Given the description of an element on the screen output the (x, y) to click on. 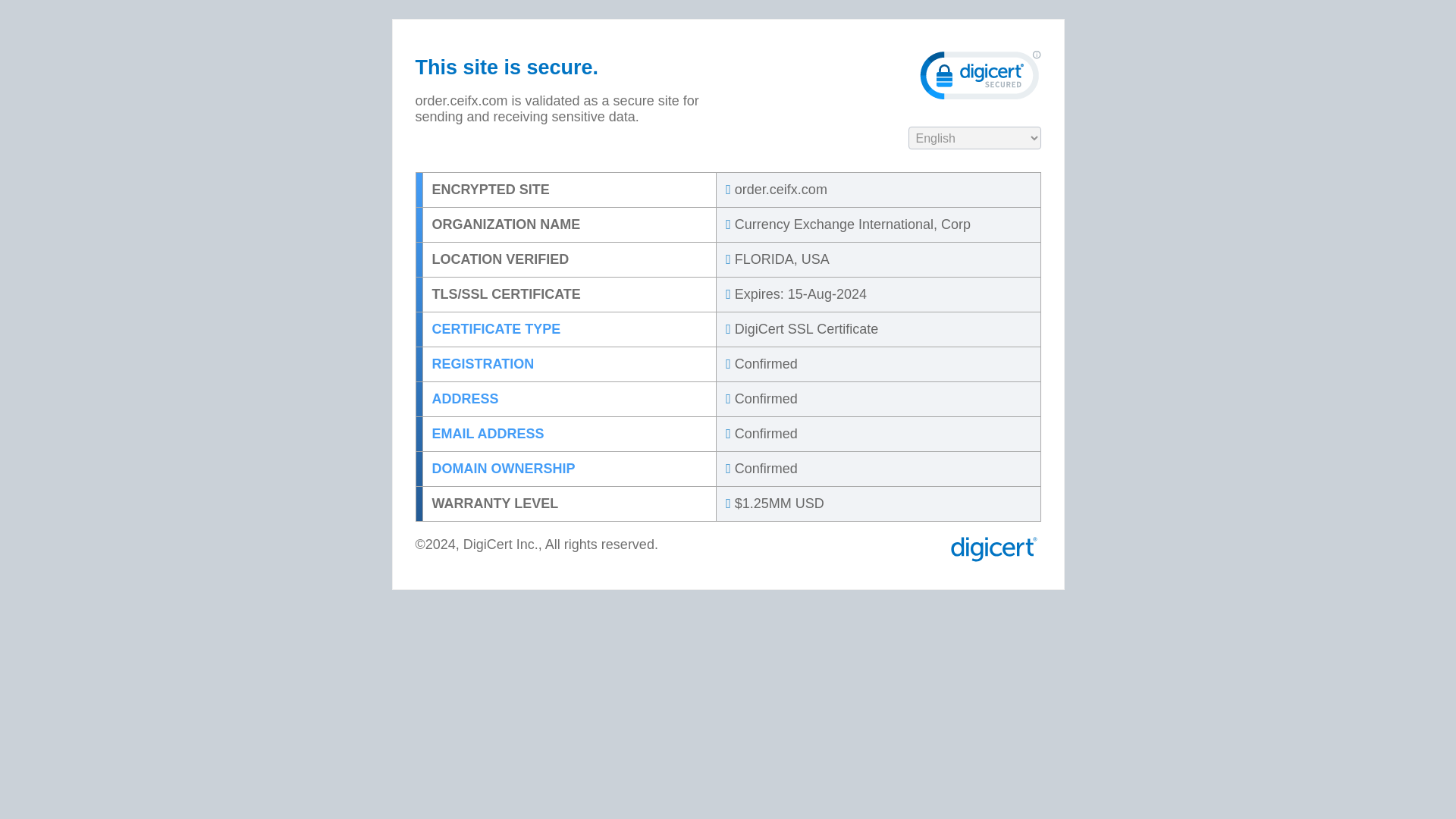
ADDRESS (569, 399)
REGISTRATION (569, 364)
EMAIL ADDRESS (569, 433)
DOMAIN OWNERSHIP (569, 468)
CERTIFICATE TYPE (569, 329)
